Given the description of an element on the screen output the (x, y) to click on. 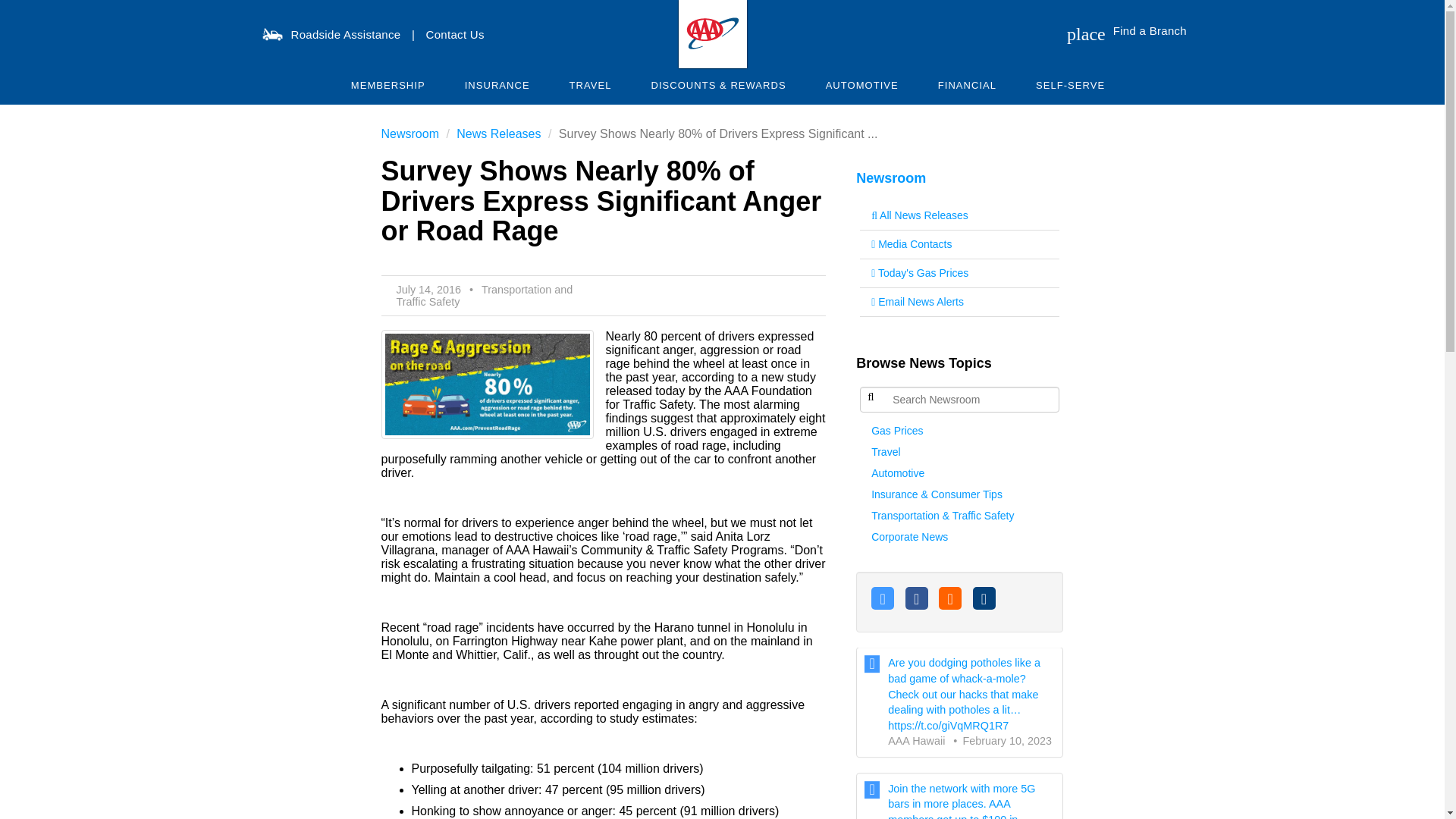
MEMBERSHIP (388, 84)
Corporate News (959, 536)
Twitter (881, 598)
FINANCIAL (967, 84)
Today's Gas Prices (959, 273)
News Releases (498, 133)
Home (711, 32)
AUTOMOTIVE (862, 84)
Contact Us (455, 33)
Transportation and Traffic Safety (484, 295)
